Given the description of an element on the screen output the (x, y) to click on. 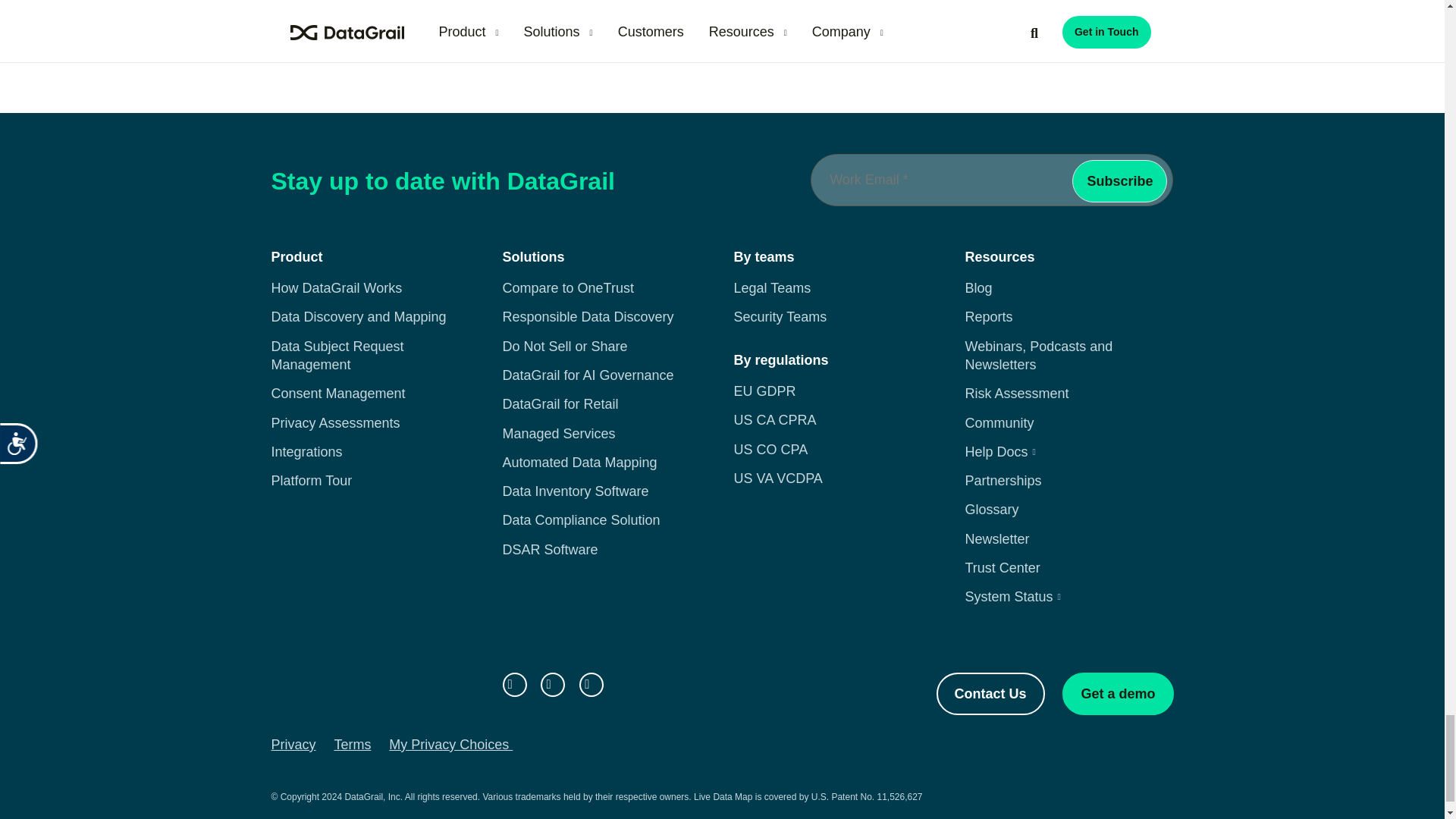
Subscribe (1119, 180)
